Given the description of an element on the screen output the (x, y) to click on. 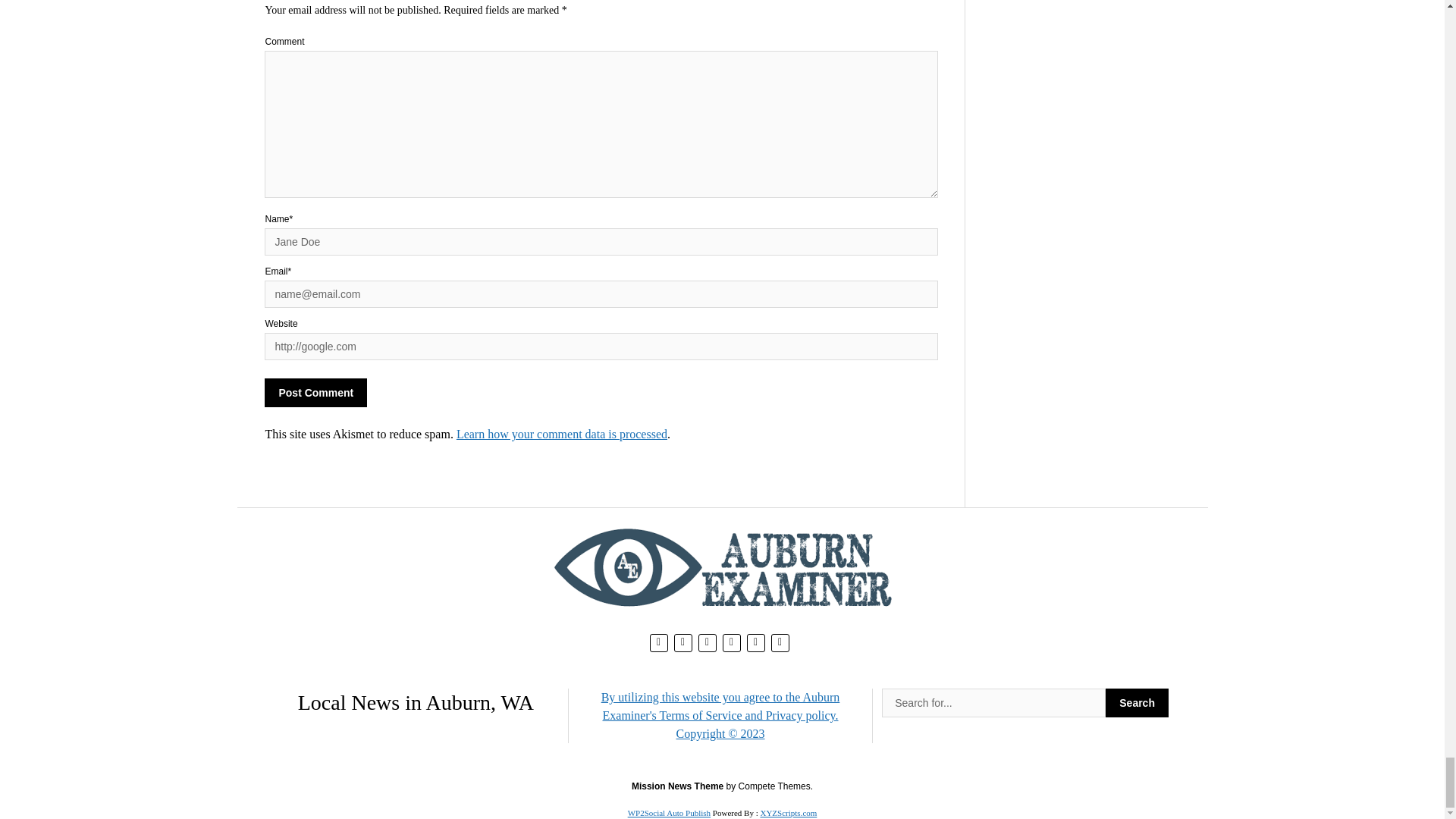
Post Comment (315, 392)
Search (1137, 702)
Search (1137, 702)
